Given the description of an element on the screen output the (x, y) to click on. 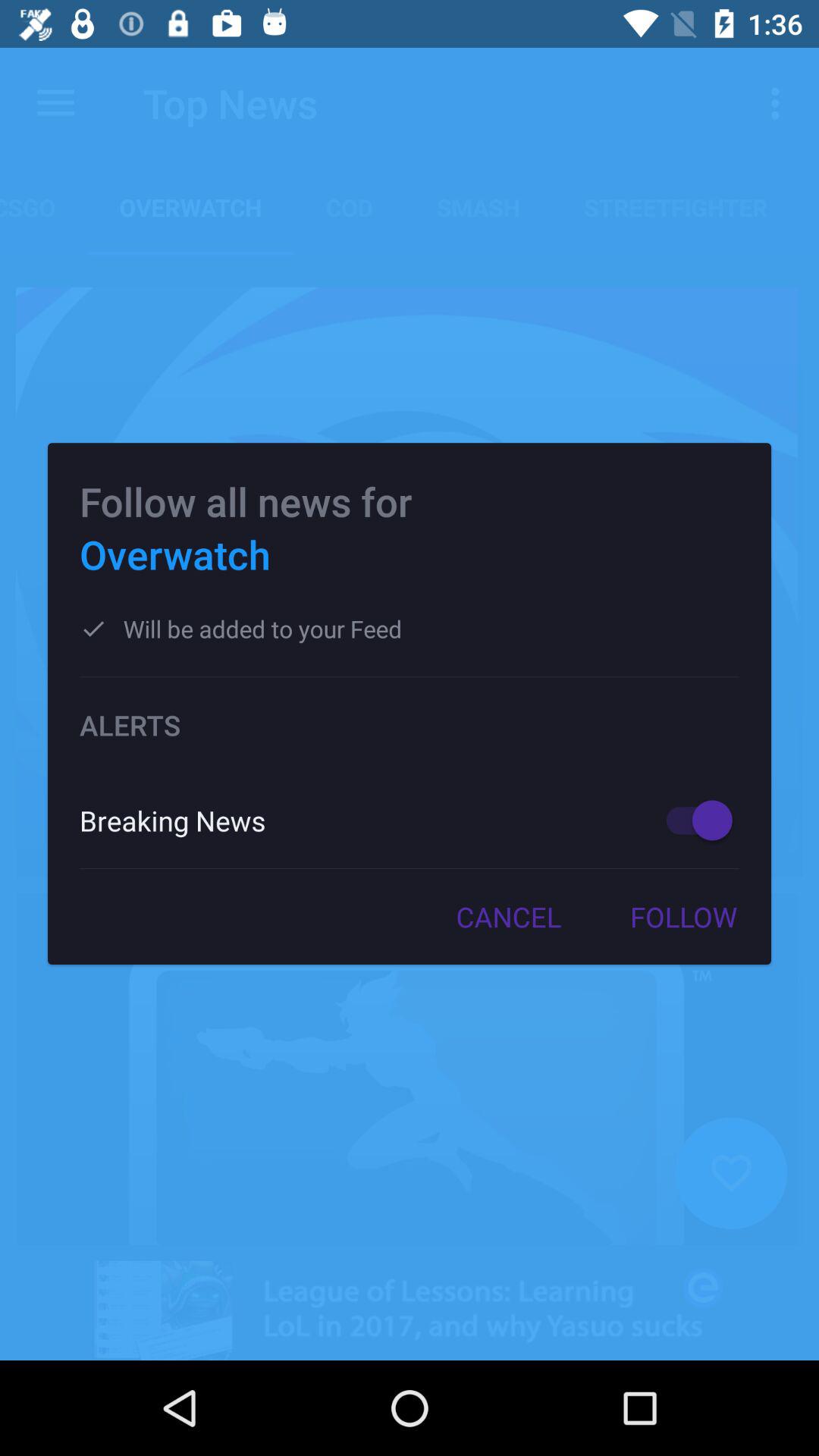
launch alerts icon (409, 724)
